Given the description of an element on the screen output the (x, y) to click on. 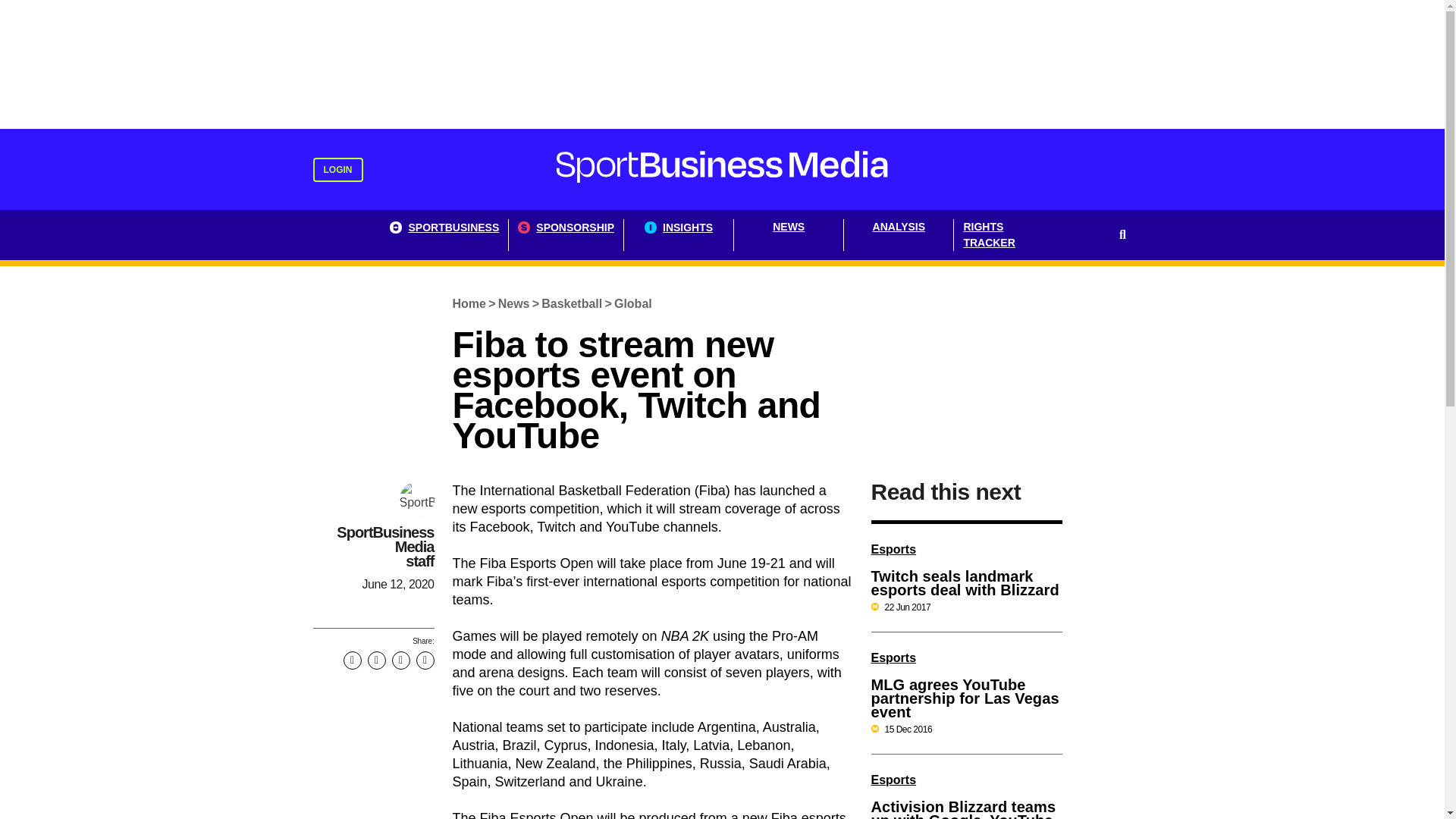
SportBusiness Media staff (384, 546)
Esports (892, 657)
Home (469, 304)
Global (632, 304)
SportBusiness Media staff (384, 546)
Esports (892, 549)
SPORTBUSINESS (444, 234)
MLG agrees YouTube partnership for Las Vegas event (964, 698)
INSIGHTS (679, 234)
NEWS (789, 234)
LOGIN (337, 169)
Twitch seals landmark esports deal with Blizzard (964, 583)
Esports (892, 779)
RIGHTS TRACKER (1008, 234)
SPONSORSHIP (566, 234)
